Given the description of an element on the screen output the (x, y) to click on. 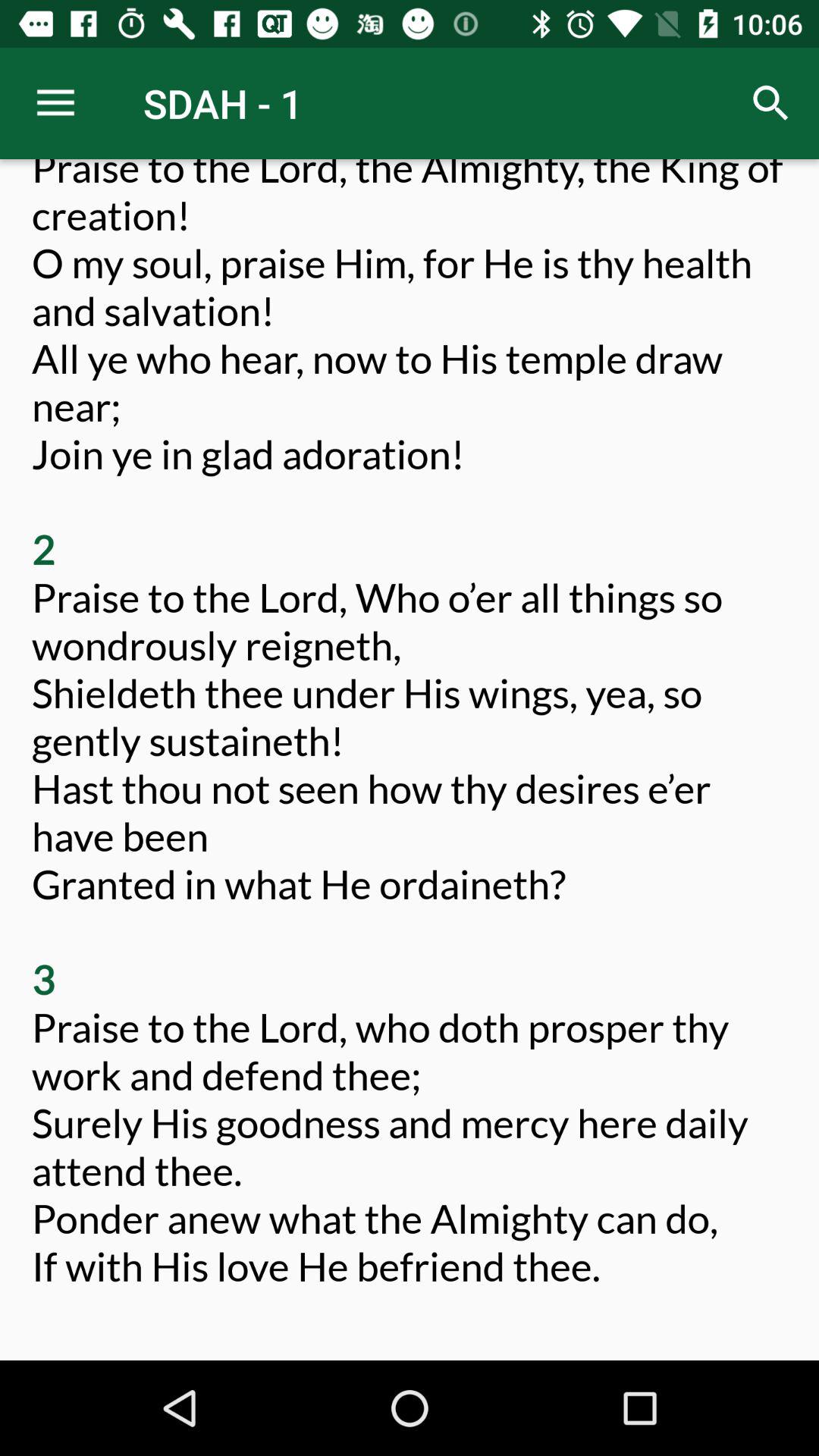
open the item at the center (409, 747)
